Given the description of an element on the screen output the (x, y) to click on. 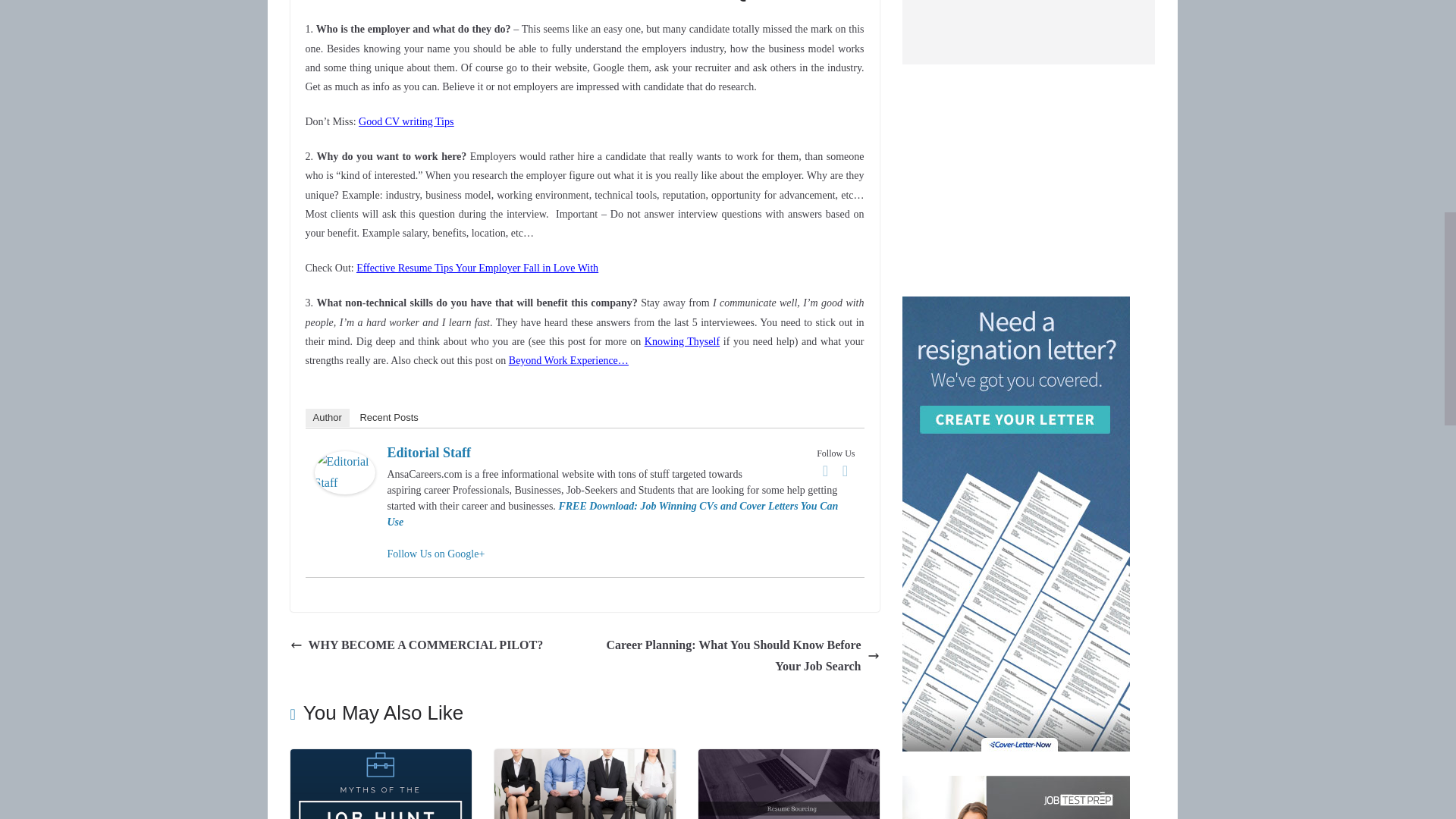
Knowing Thyself (682, 341)
FREE Download: Job Winning CVs and Cover Letters You Can Use (612, 513)
Good CV writing Tips (405, 121)
Twitter (844, 470)
WHY BECOME A COMMERCIAL PILOT? (416, 645)
Recent Posts (388, 417)
Editorial Staff (344, 461)
Facebook (824, 470)
10 Job Search Myths and Realities on How to Land a Job (379, 758)
Effective Resume Tips Your Employer Fall in Love With (477, 267)
